Given the description of an element on the screen output the (x, y) to click on. 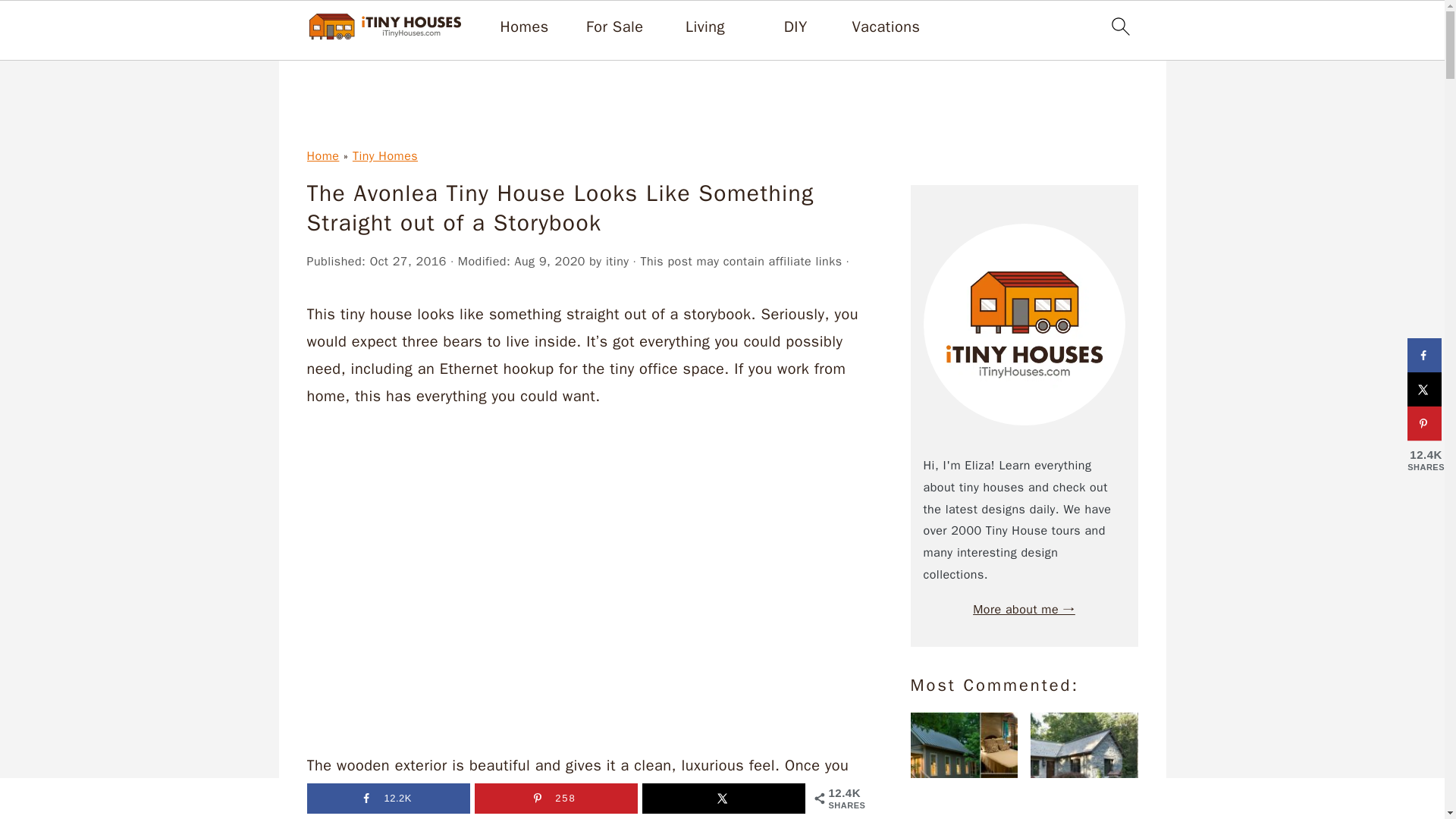
Save to Pinterest (1424, 423)
For Sale (614, 27)
Living (705, 27)
Share on Facebook (386, 798)
Homes (524, 27)
Vacations (885, 27)
DIY (796, 27)
search icon (1119, 26)
Share on Facebook (1424, 355)
Save to Pinterest (555, 798)
Share on X (1424, 389)
